Given the description of an element on the screen output the (x, y) to click on. 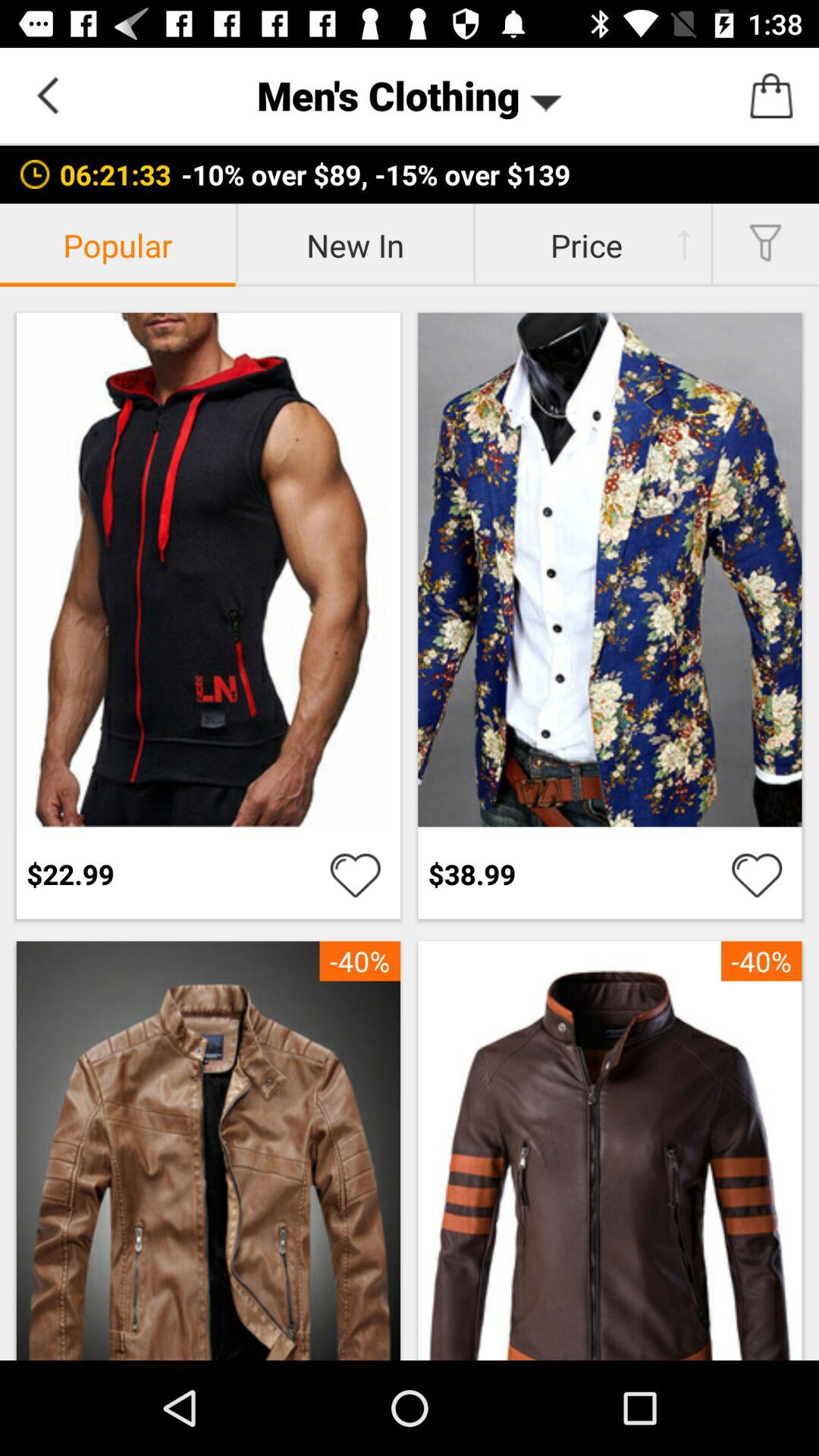
favorite it (355, 874)
